Given the description of an element on the screen output the (x, y) to click on. 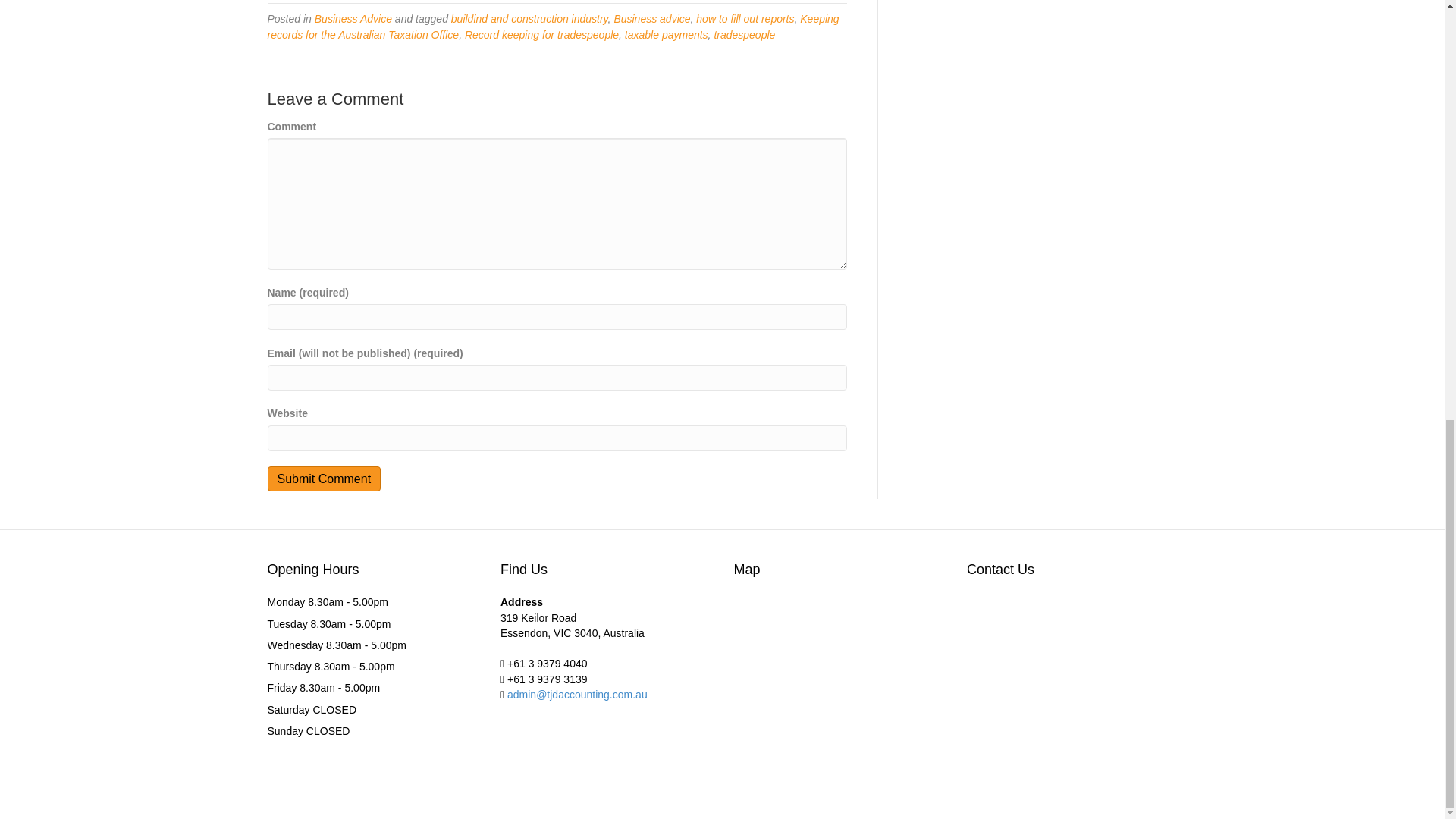
buildind and construction industry (529, 19)
Business advice (651, 19)
how to fill out reports (744, 19)
Keeping records for the Australian Taxation Office (552, 26)
Business Advice (352, 19)
Record keeping for tradespeople (541, 34)
Submit Comment (323, 478)
